Given the description of an element on the screen output the (x, y) to click on. 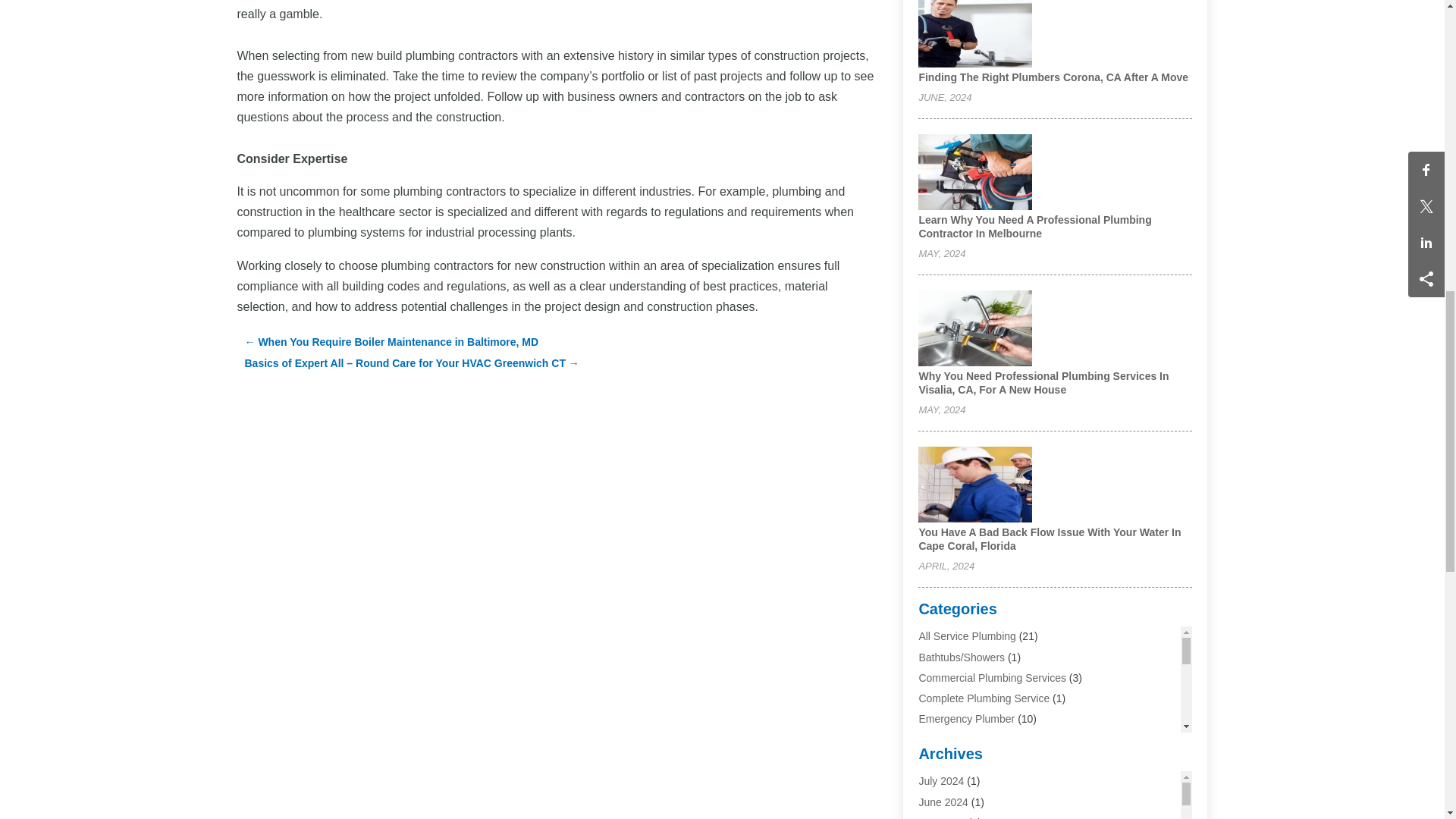
Emergency Plumber (966, 718)
Plumber (938, 801)
All Service Plumbing (966, 635)
Complete Plumbing Service (983, 698)
Finding The Right Plumbers Corona, CA After A Move (1053, 77)
Commercial Plumbing Services (991, 677)
Heating And Air Conditioning (985, 780)
Garbage Disposal Service (980, 739)
Plumbing (940, 817)
